Given the description of an element on the screen output the (x, y) to click on. 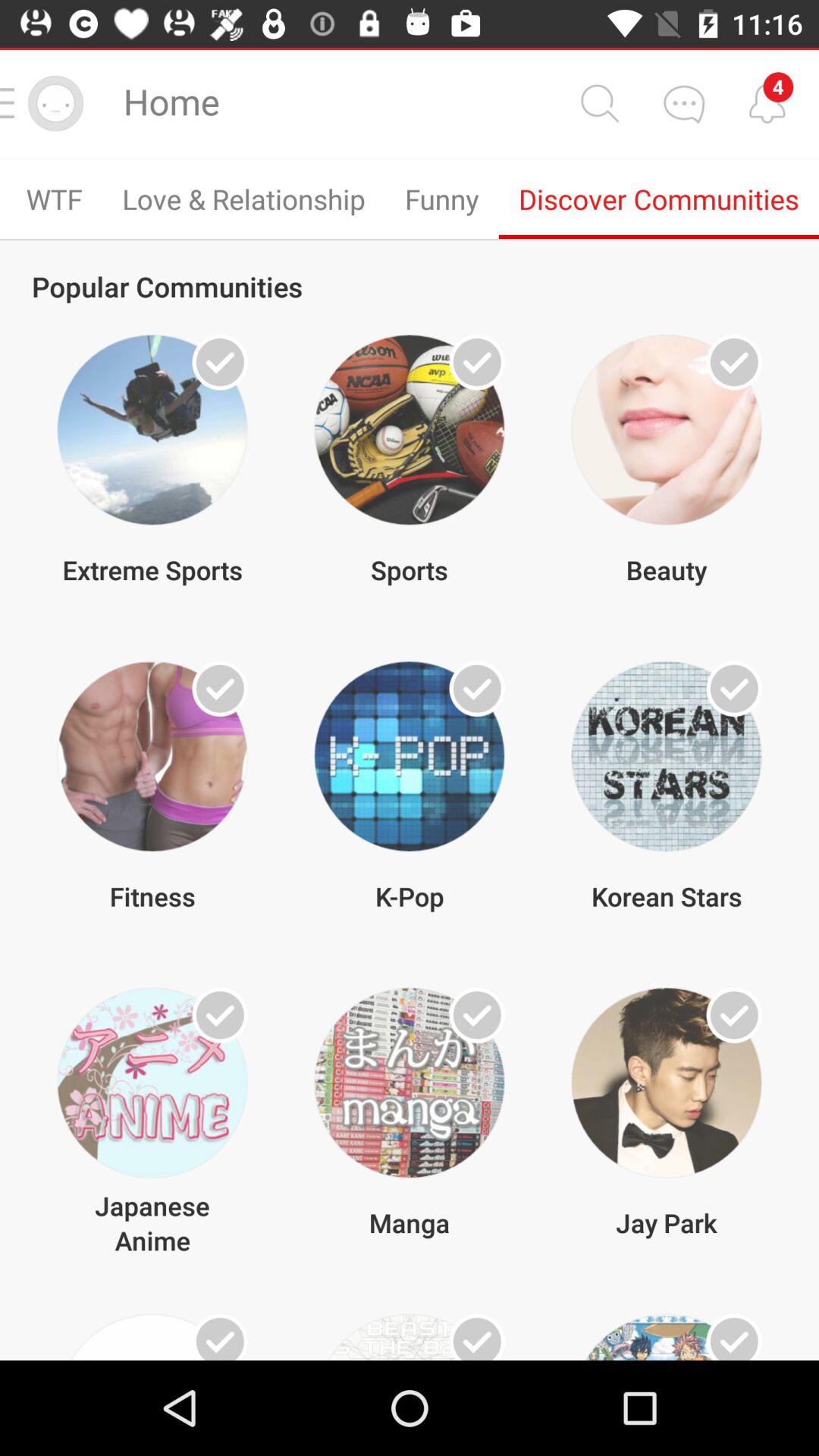
select community (734, 1015)
